Given the description of an element on the screen output the (x, y) to click on. 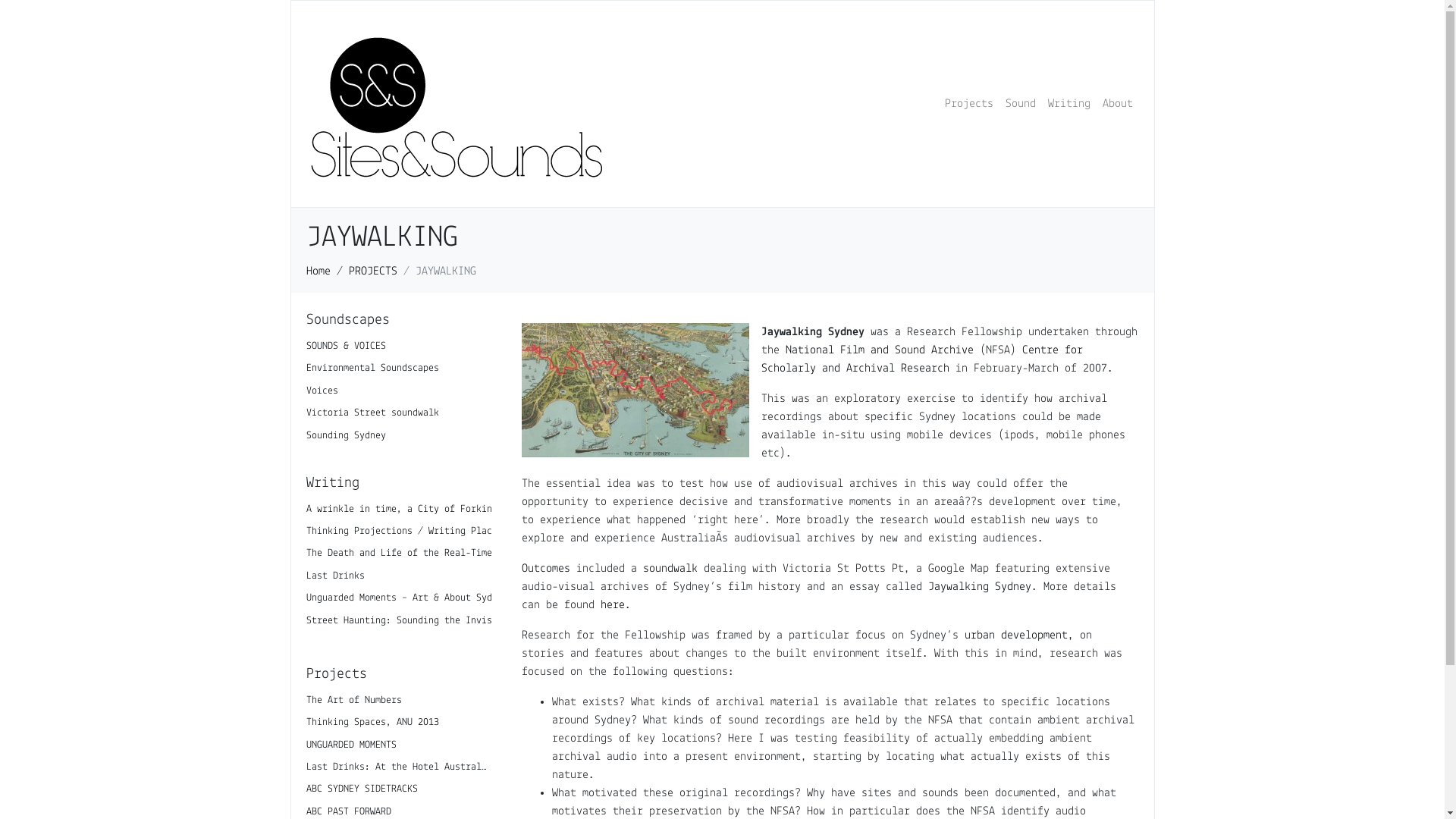
Sound Element type: text (1020, 103)
Thinking Spaces, ANU 2013 Element type: text (399, 722)
urban development, Element type: text (1018, 635)
UNGUARDED MOMENTS Element type: text (399, 745)
Projects Element type: text (968, 103)
Voices Element type: text (399, 390)
Writing Element type: text (1068, 103)
PROJECTS Element type: text (372, 271)
Environmental Soundscapes Element type: text (399, 368)
Street Haunting: Sounding the Invisible City Element type: text (422, 620)
A wrinkle in time, a City of Forking Paths Element type: text (417, 509)
Sounding Sydney Element type: text (399, 435)
jaywalking Element type: hover (635, 390)
Last Drinks: At the Hotel Australia Element type: text (399, 767)
ABC SYDNEY SIDETRACKS Element type: text (399, 789)
National Film and Sound Archive Element type: text (879, 350)
About Element type: text (1117, 103)
Last Drinks Element type: text (335, 575)
Home Element type: text (318, 271)
Victoria Street soundwalk Element type: text (399, 412)
The Death and Life of the Real-Time City Element type: text (412, 553)
The Art of Numbers Element type: text (399, 700)
Thinking Projections / Writing Places Element type: text (404, 531)
soundwalk Element type: text (670, 568)
here Element type: text (612, 605)
Jaywalking Sydney Element type: text (979, 586)
Outcomes Element type: text (545, 568)
Centre for Scholarly and Archival Research Element type: text (921, 359)
SOUNDS & VOICES Element type: text (399, 346)
